Given the description of an element on the screen output the (x, y) to click on. 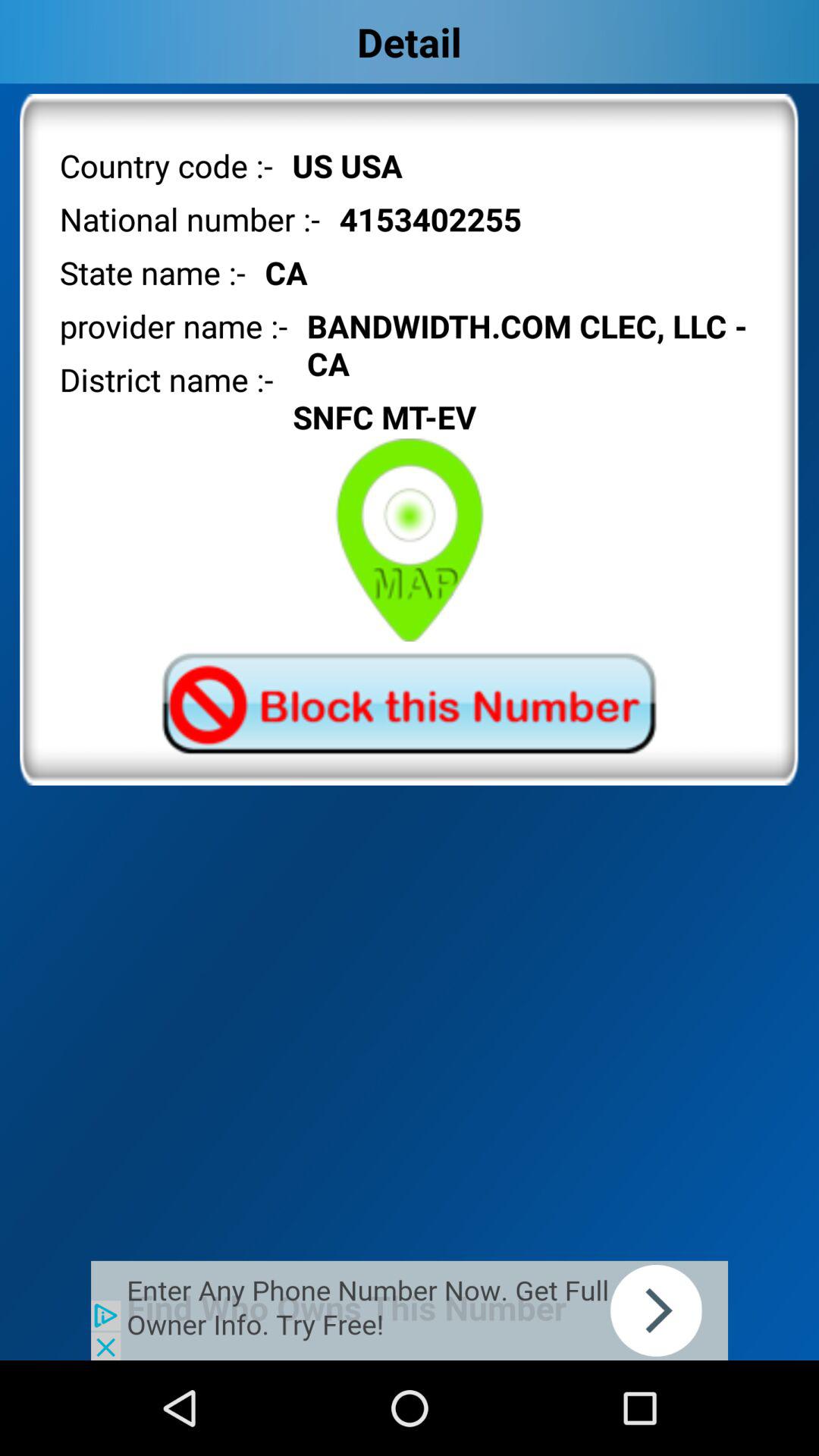
advertisement to look up phone numbers (409, 1310)
